Given the description of an element on the screen output the (x, y) to click on. 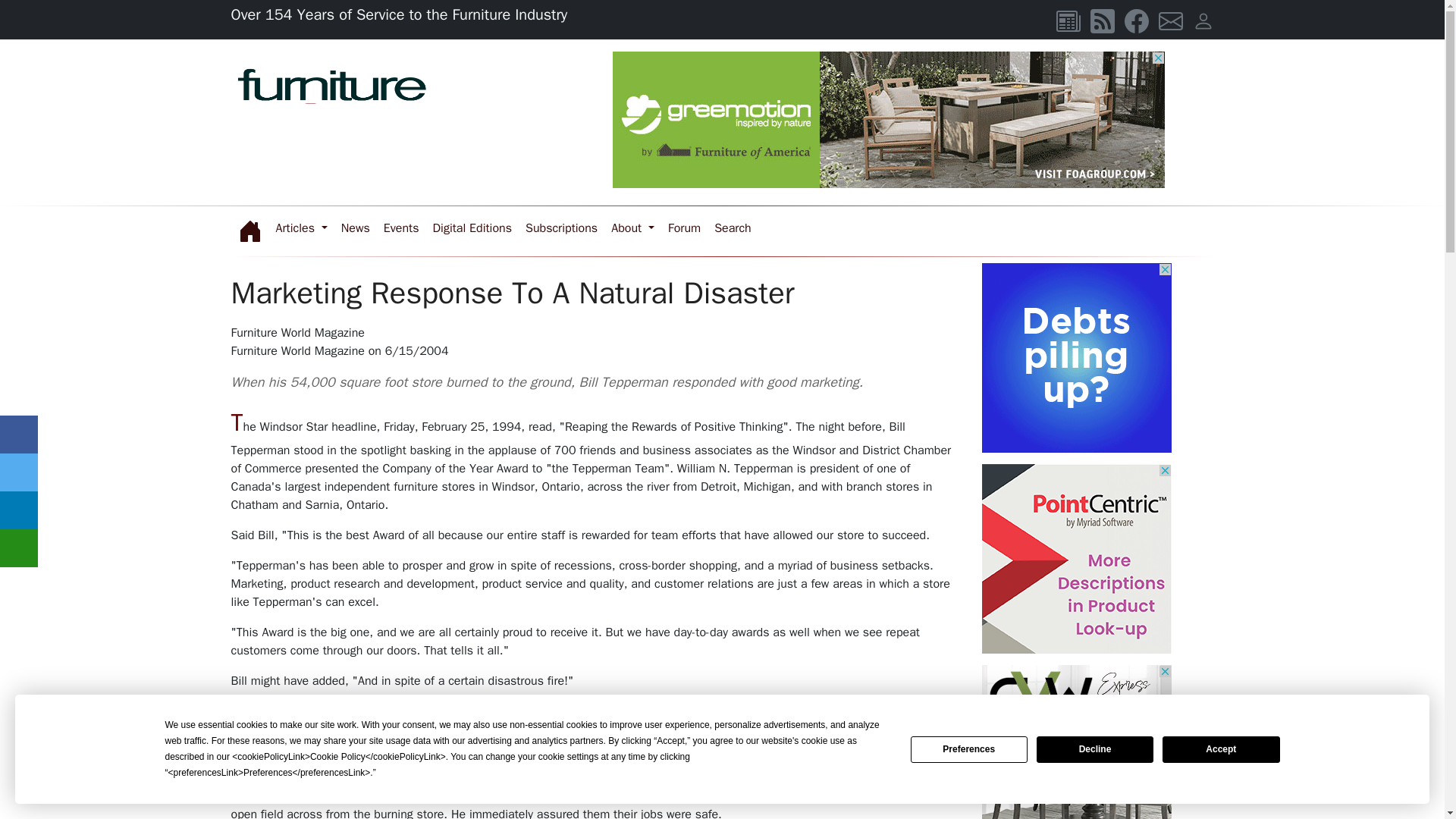
Accept (1220, 748)
Preferences (969, 748)
3rd party ad content (1075, 357)
Events (401, 228)
3rd party ad content (888, 119)
Digital Editions (472, 228)
Search (732, 228)
News (355, 228)
Furniture Industry Forum (684, 228)
Furniture Industry Magazine Digitial Editions (472, 228)
